Given the description of an element on the screen output the (x, y) to click on. 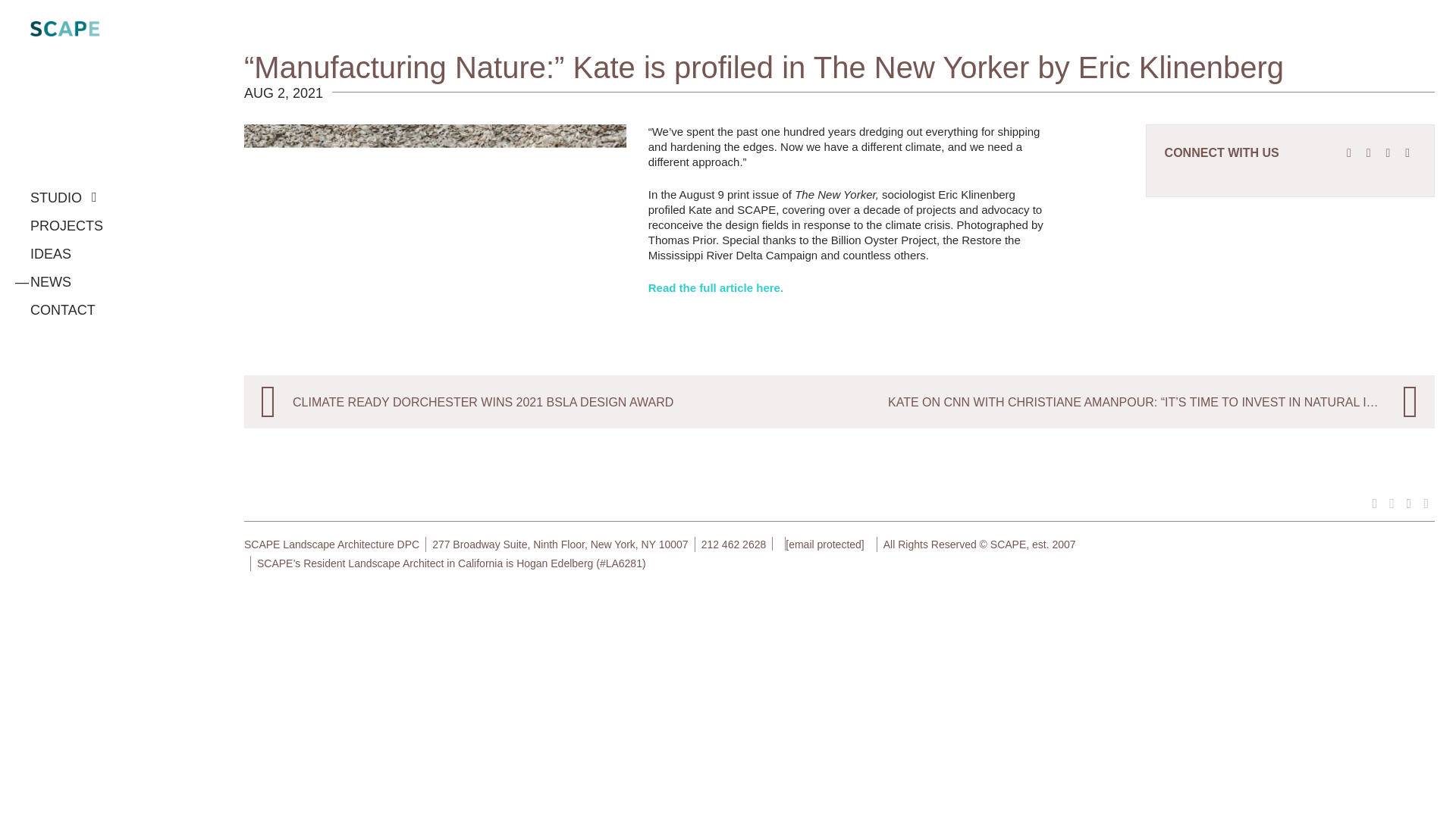
NEWS (42, 281)
STUDIO (63, 197)
CLIMATE READY DORCHESTER WINS 2021 BSLA DESIGN AWARD (542, 401)
CONTACT (63, 309)
212 462 2628 (734, 544)
PROJECTS (66, 225)
IDEAS (50, 253)
Read the full article here. (715, 287)
